Given the description of an element on the screen output the (x, y) to click on. 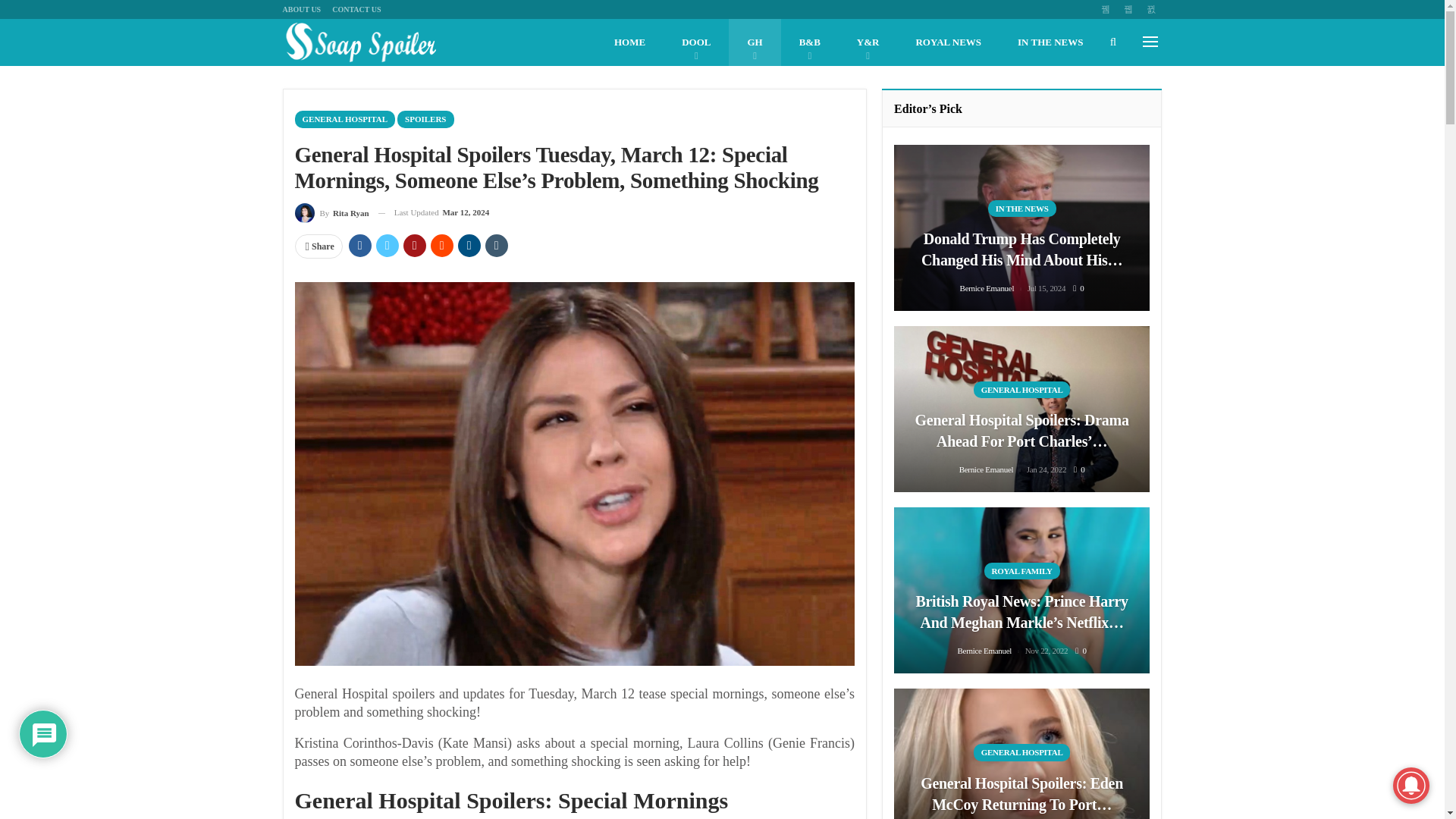
DOOL (696, 42)
CONTACT US (355, 8)
ABOUT US (301, 8)
Browse Author Articles (331, 212)
HOME (629, 42)
GH (754, 42)
